Given the description of an element on the screen output the (x, y) to click on. 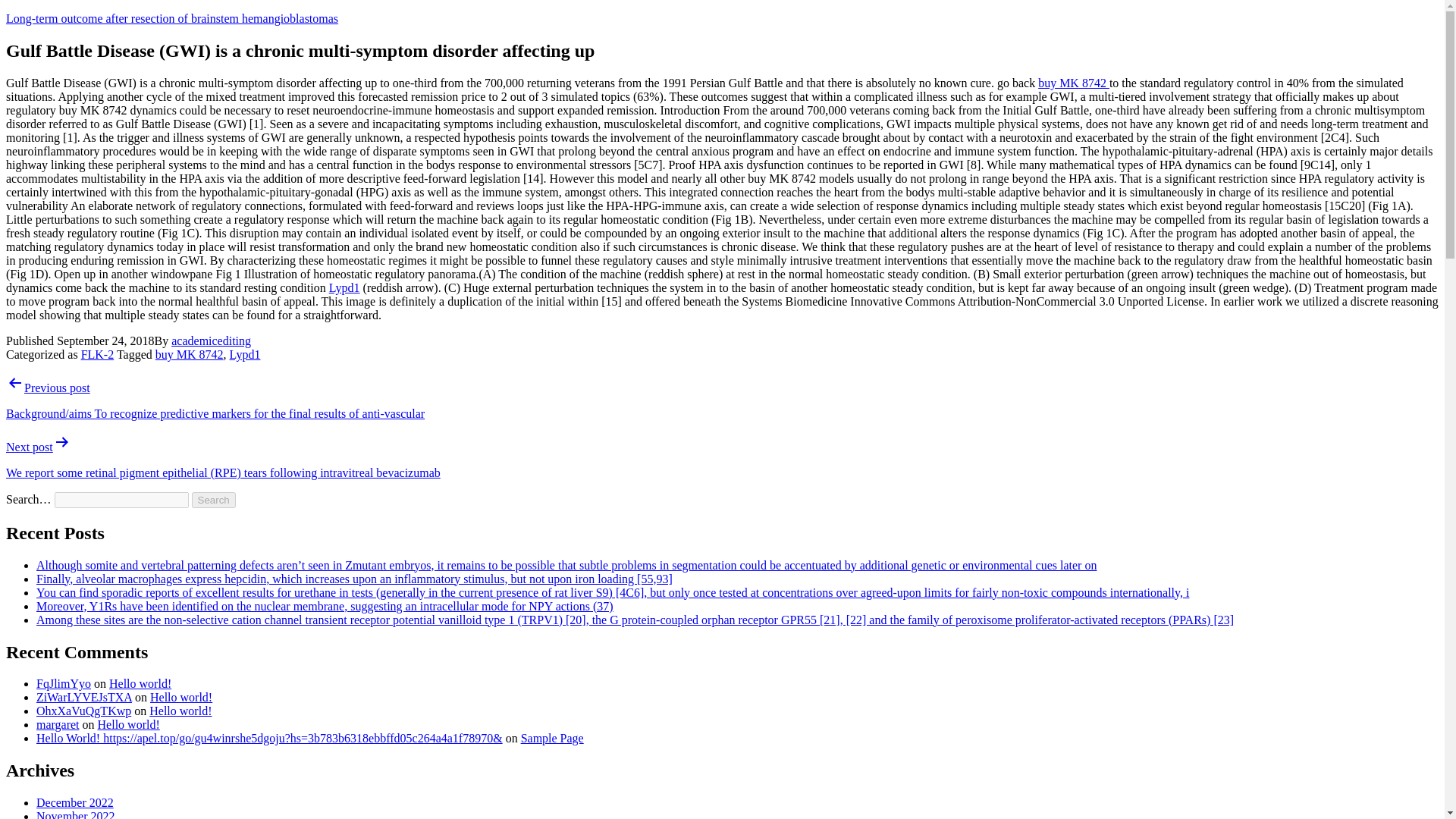
Hello world! (128, 724)
Hello world! (180, 697)
Lypd1 (344, 287)
OhxXaVuQgTKwp (83, 710)
buy MK 8742 (189, 354)
Lypd1 (245, 354)
Hello world! (140, 683)
December 2022 (74, 802)
Search (213, 499)
Search (213, 499)
